Given the description of an element on the screen output the (x, y) to click on. 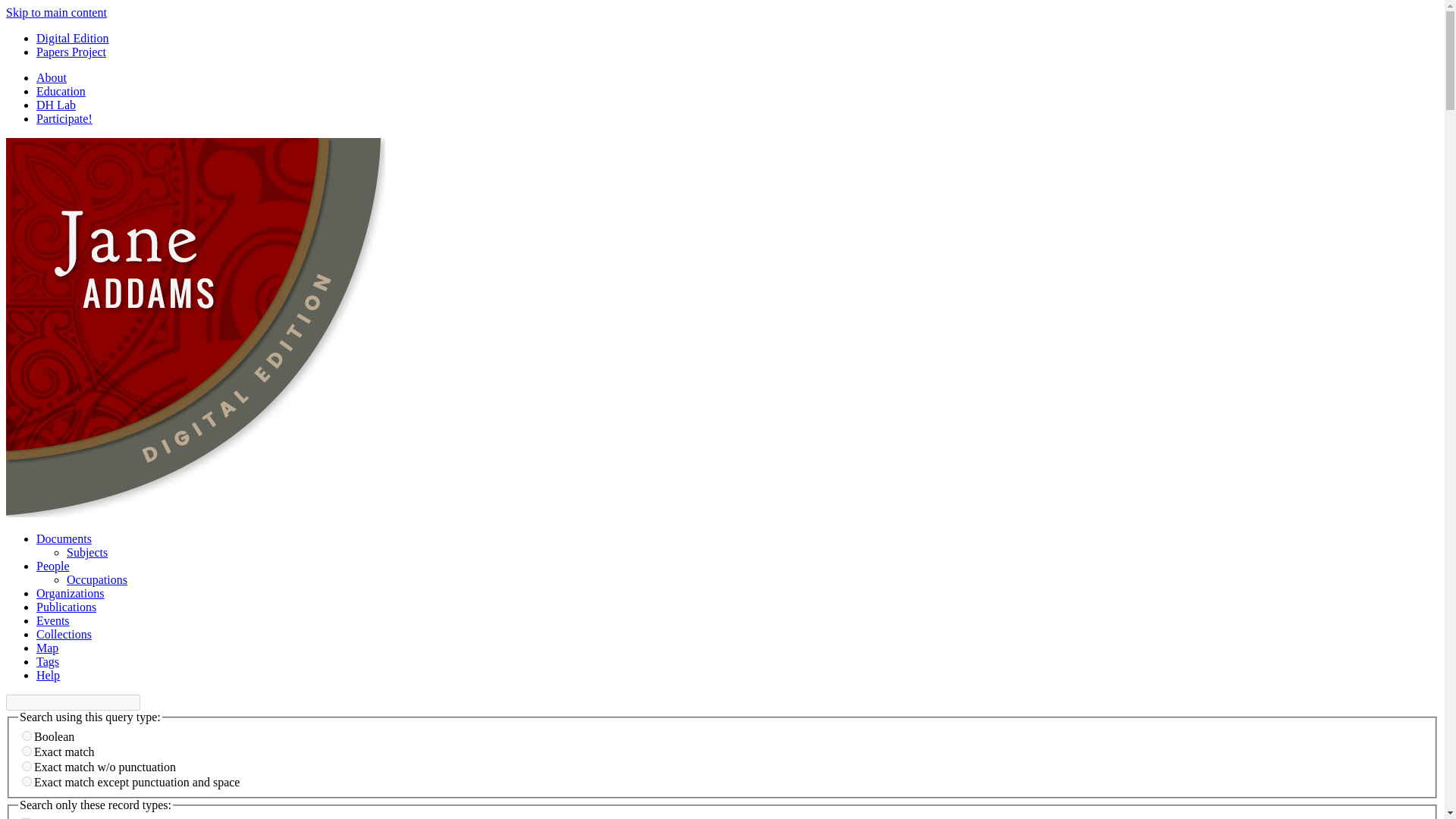
Skip to main content (55, 11)
About (51, 77)
Subjects (86, 552)
Documents (63, 538)
Education (60, 91)
People (52, 565)
Collections (63, 634)
Papers Project (71, 51)
Occupations (97, 579)
Digital Edition (72, 38)
Search (72, 702)
Participate! (64, 118)
boolean (26, 736)
Map (47, 647)
Publications (66, 606)
